Given the description of an element on the screen output the (x, y) to click on. 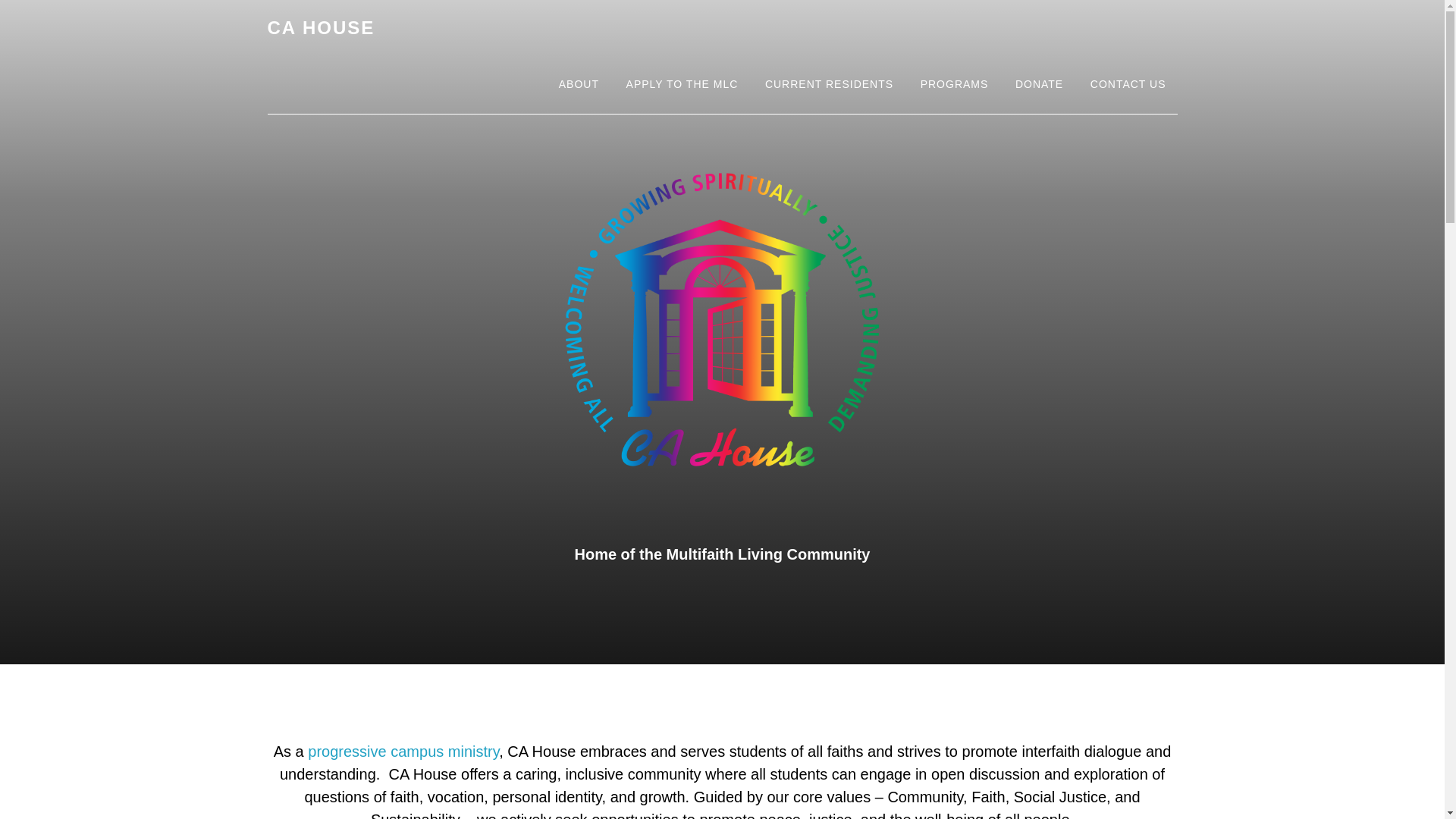
DONATE (1039, 84)
PROGRAMS (954, 84)
progressive campus ministry (403, 751)
CURRENT RESIDENTS (829, 84)
CA HOUSE (320, 27)
CONTACT US (1127, 84)
ABOUT (578, 84)
Home of the Multifaith Living Community (722, 554)
APPLY TO THE MLC (681, 84)
